Given the description of an element on the screen output the (x, y) to click on. 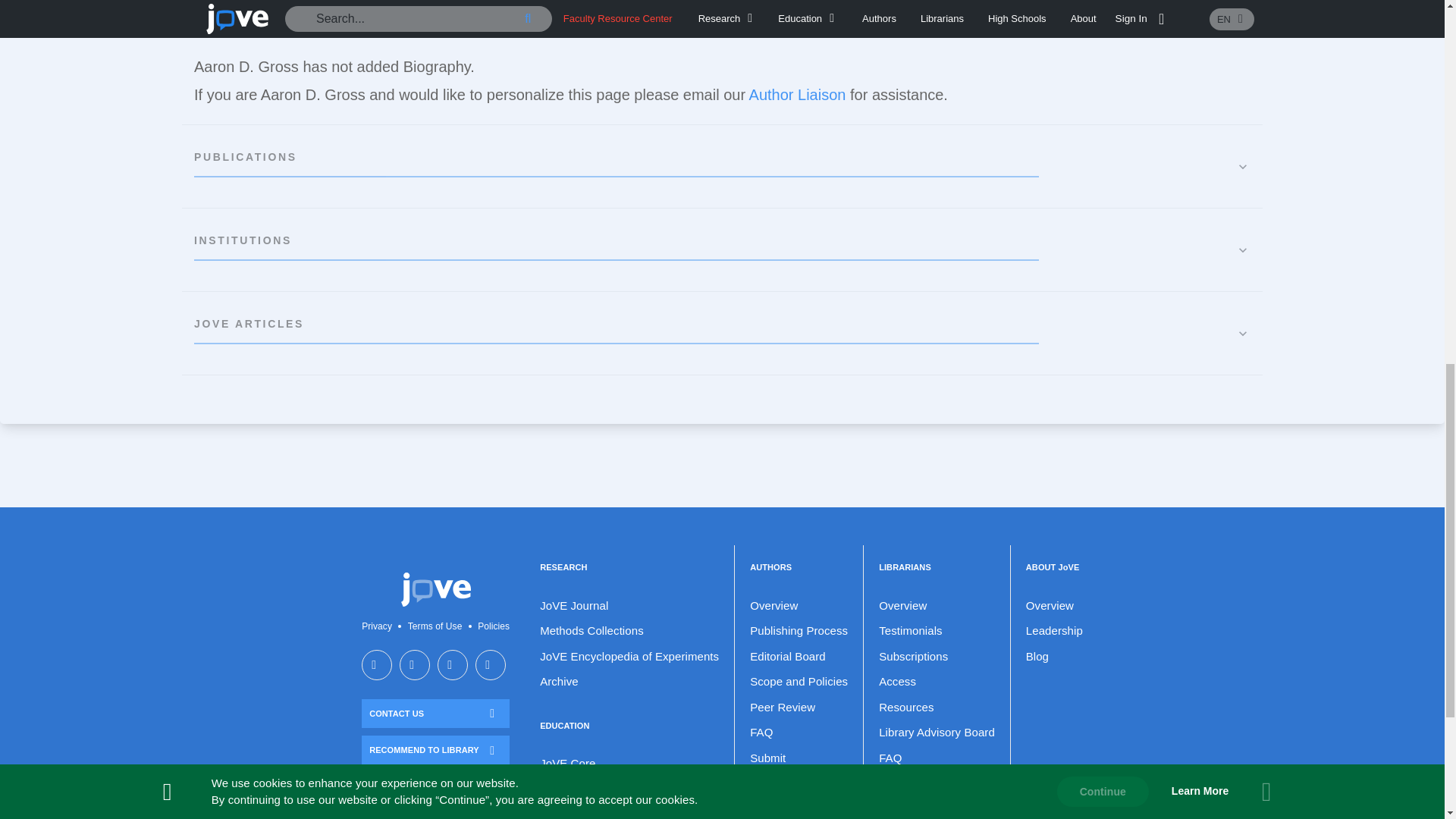
BIOGRAPHY (722, 23)
Author Liaison (797, 94)
PUBLICATIONS (722, 166)
